Given the description of an element on the screen output the (x, y) to click on. 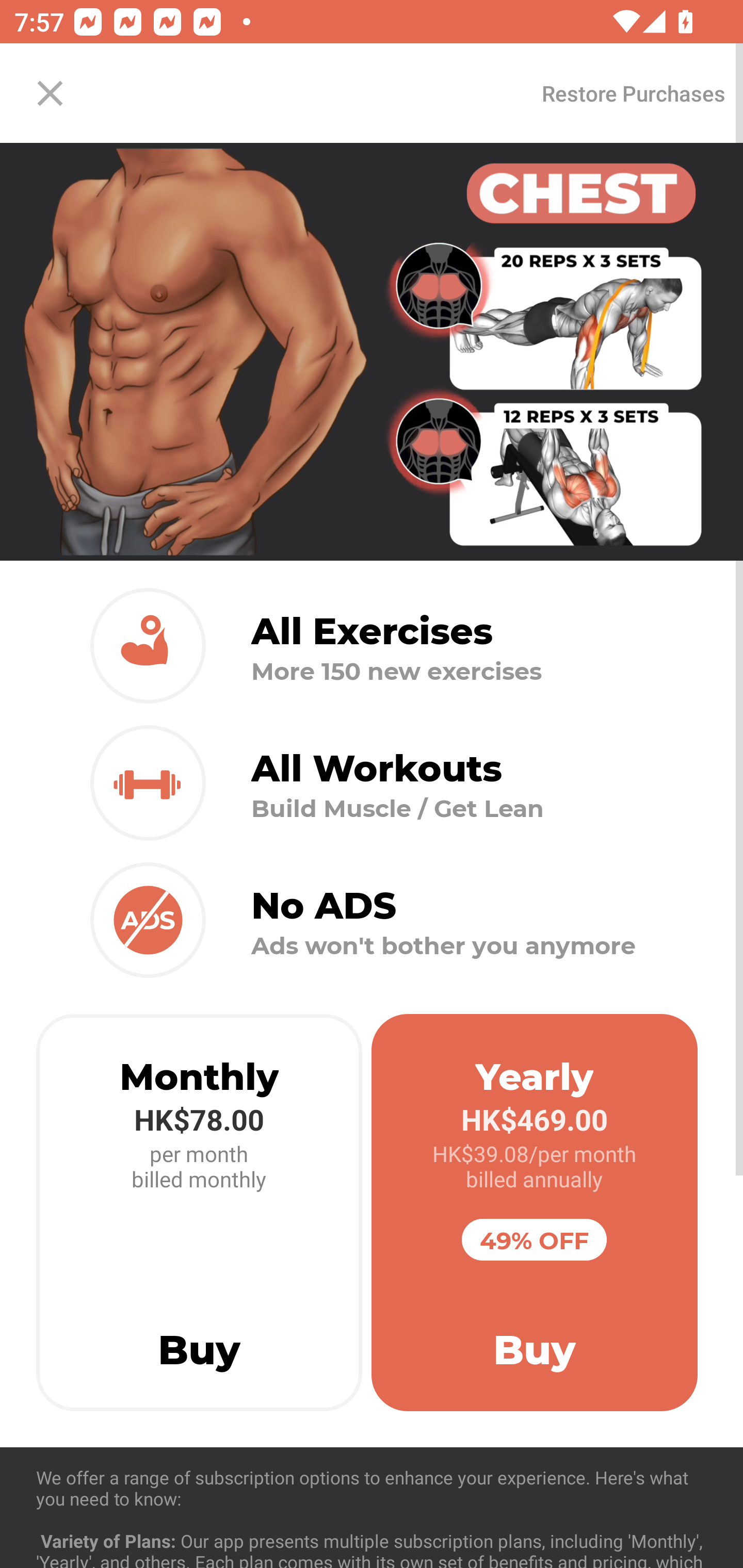
Restore Purchases (632, 92)
Monthly HK$78.00 per month
billed monthly Buy (199, 1212)
